Given the description of an element on the screen output the (x, y) to click on. 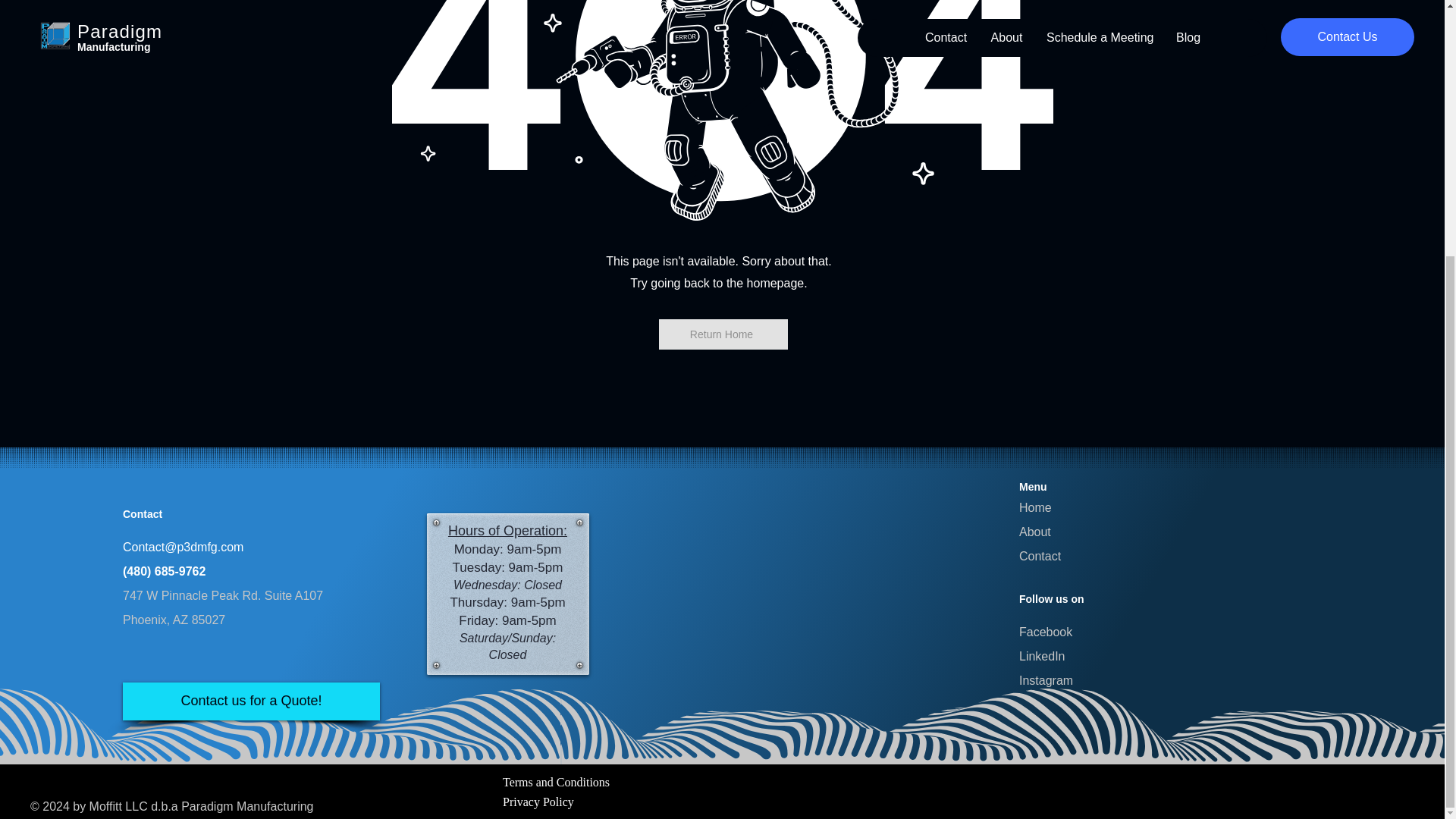
Return Home (722, 334)
LinkedIn (1042, 656)
Contact (1040, 555)
Contact us for a Quote! (251, 701)
About (1035, 531)
Home (1035, 507)
Facebook (1045, 631)
Terms and Conditions (556, 781)
Privacy Policy (537, 801)
Instagram (1046, 680)
